Given the description of an element on the screen output the (x, y) to click on. 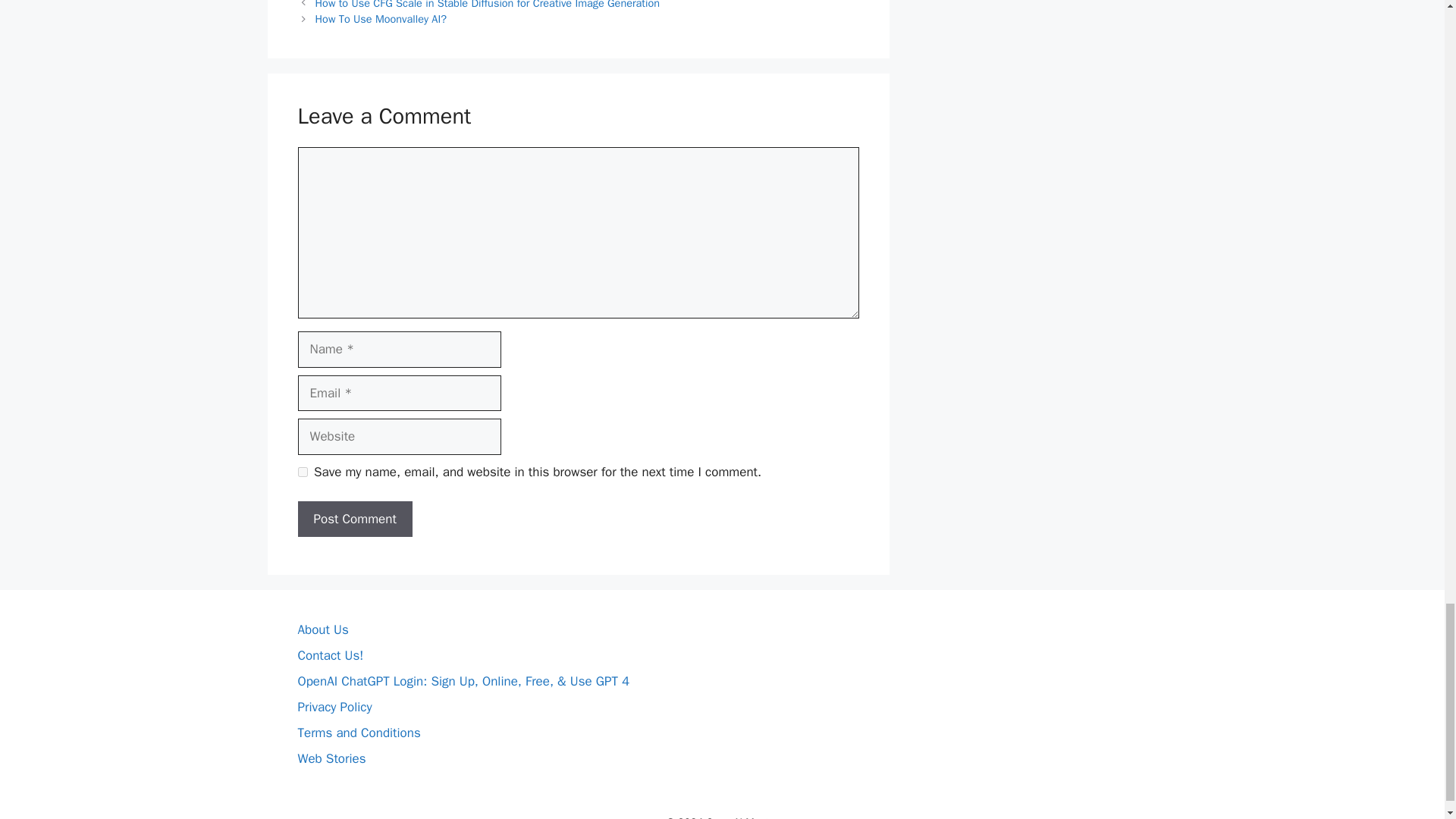
yes (302, 471)
How To Use Moonvalley AI? (380, 18)
Post Comment (354, 519)
Post Comment (354, 519)
